Given the description of an element on the screen output the (x, y) to click on. 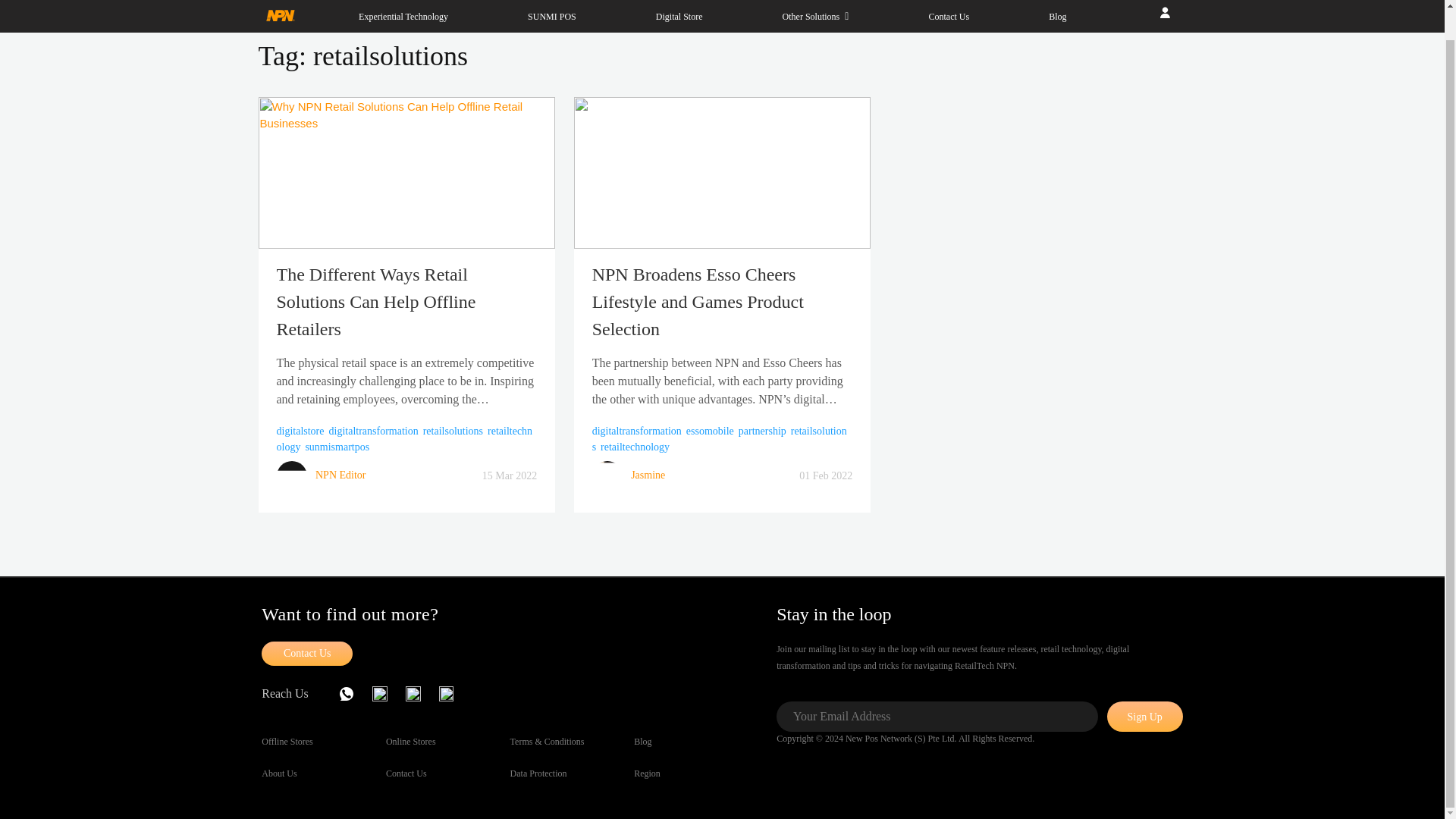
whatsapp (355, 693)
digitalstore (299, 430)
Posts by Jasmine (647, 474)
retailtechnology (404, 438)
Facebook (422, 693)
Offline Stores (287, 741)
Online Stores (410, 741)
retailsolutions (719, 438)
